Given the description of an element on the screen output the (x, y) to click on. 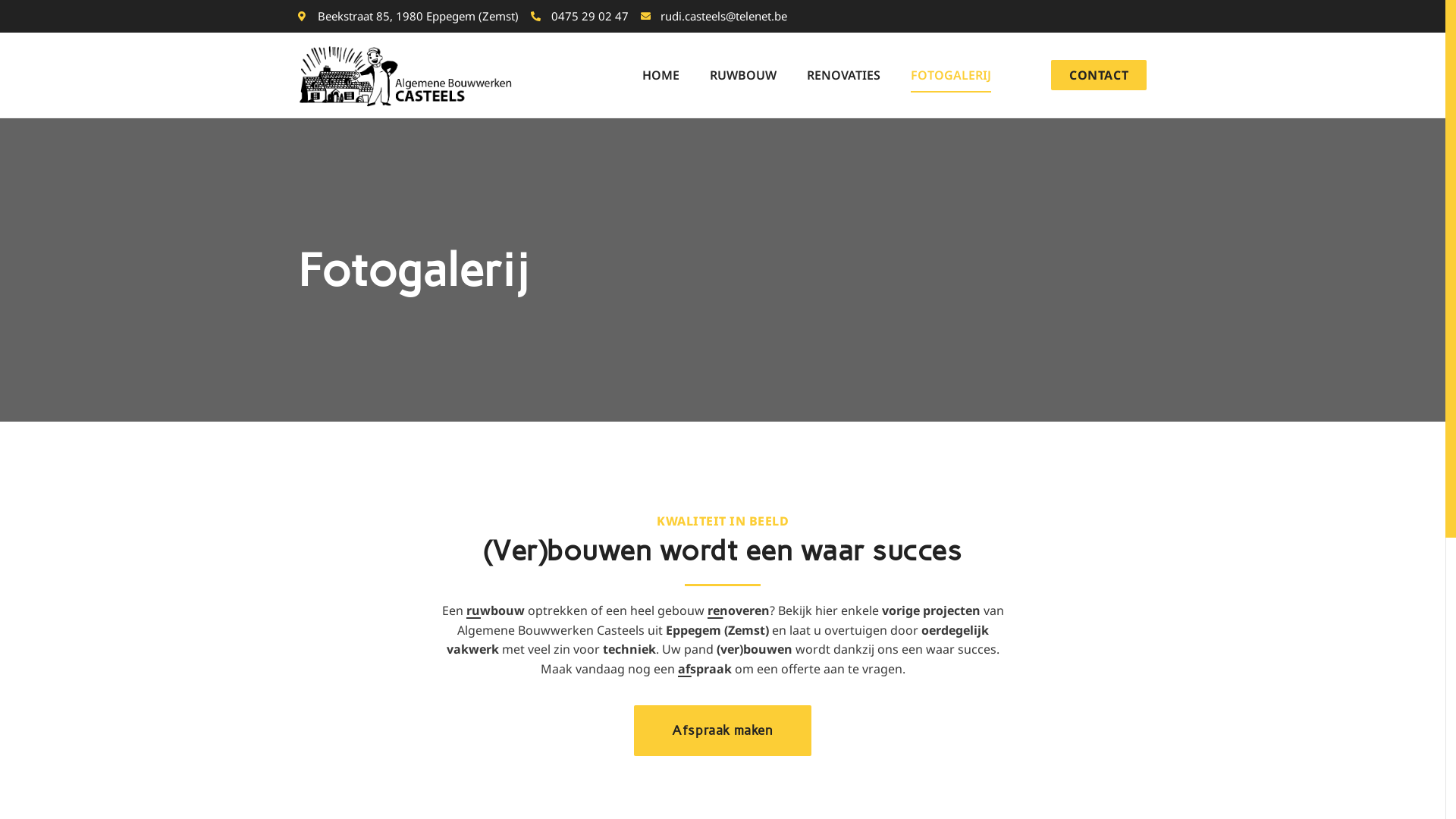
Afspraak maken Element type: text (721, 730)
CONTACT Element type: text (1098, 74)
Beekstraat 85, 1980 Eppegem (Zemst) Element type: text (408, 16)
RENOVATIES Element type: text (843, 74)
0475 29 02 47 Element type: text (578, 16)
ruwbouw Element type: text (494, 610)
afspraak Element type: text (704, 668)
rudi.casteels@telenet.be Element type: text (713, 16)
HOME Element type: text (660, 74)
RUWBOUW Element type: text (742, 74)
renoveren Element type: text (737, 610)
FOTOGALERIJ Element type: text (950, 74)
